Given the description of an element on the screen output the (x, y) to click on. 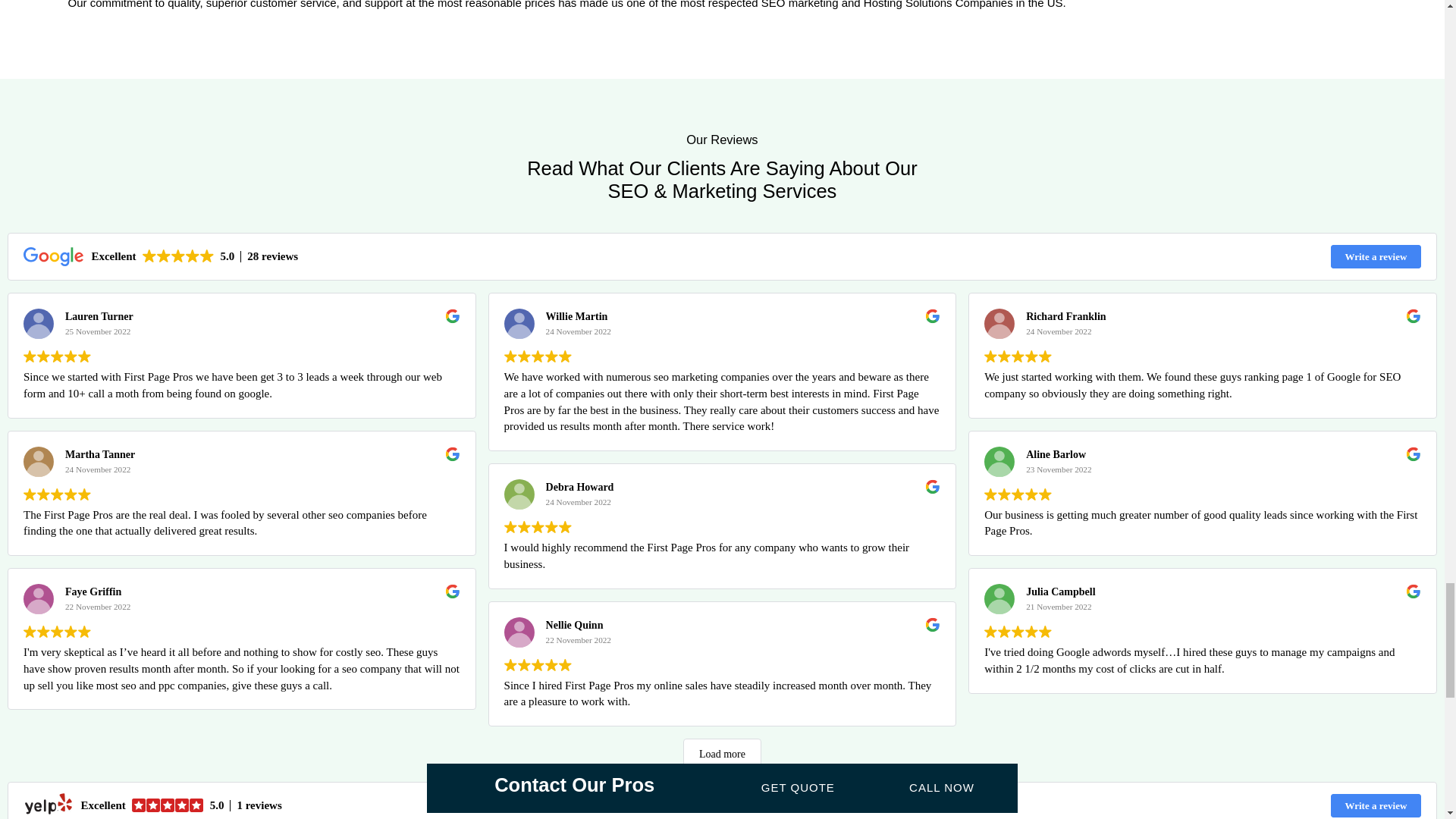
Write a review (1375, 805)
Write a review (1375, 256)
